Given the description of an element on the screen output the (x, y) to click on. 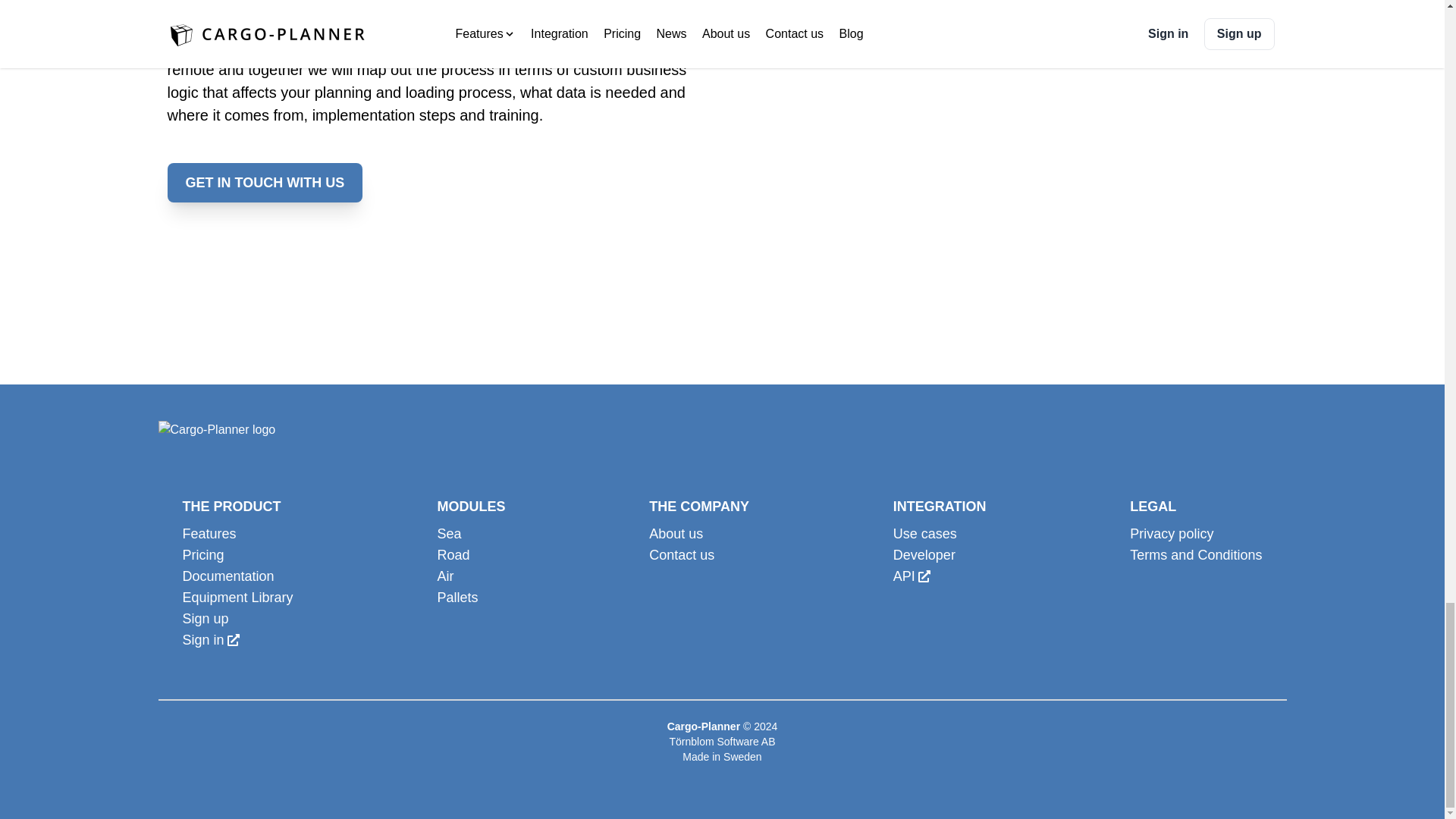
Air (470, 576)
Use cases (940, 533)
Sign up (237, 618)
Developer (940, 554)
Pallets (470, 597)
Equipment Library (237, 597)
API (940, 576)
Features (237, 533)
Contact us (699, 554)
Documentation (237, 576)
